Given the description of an element on the screen output the (x, y) to click on. 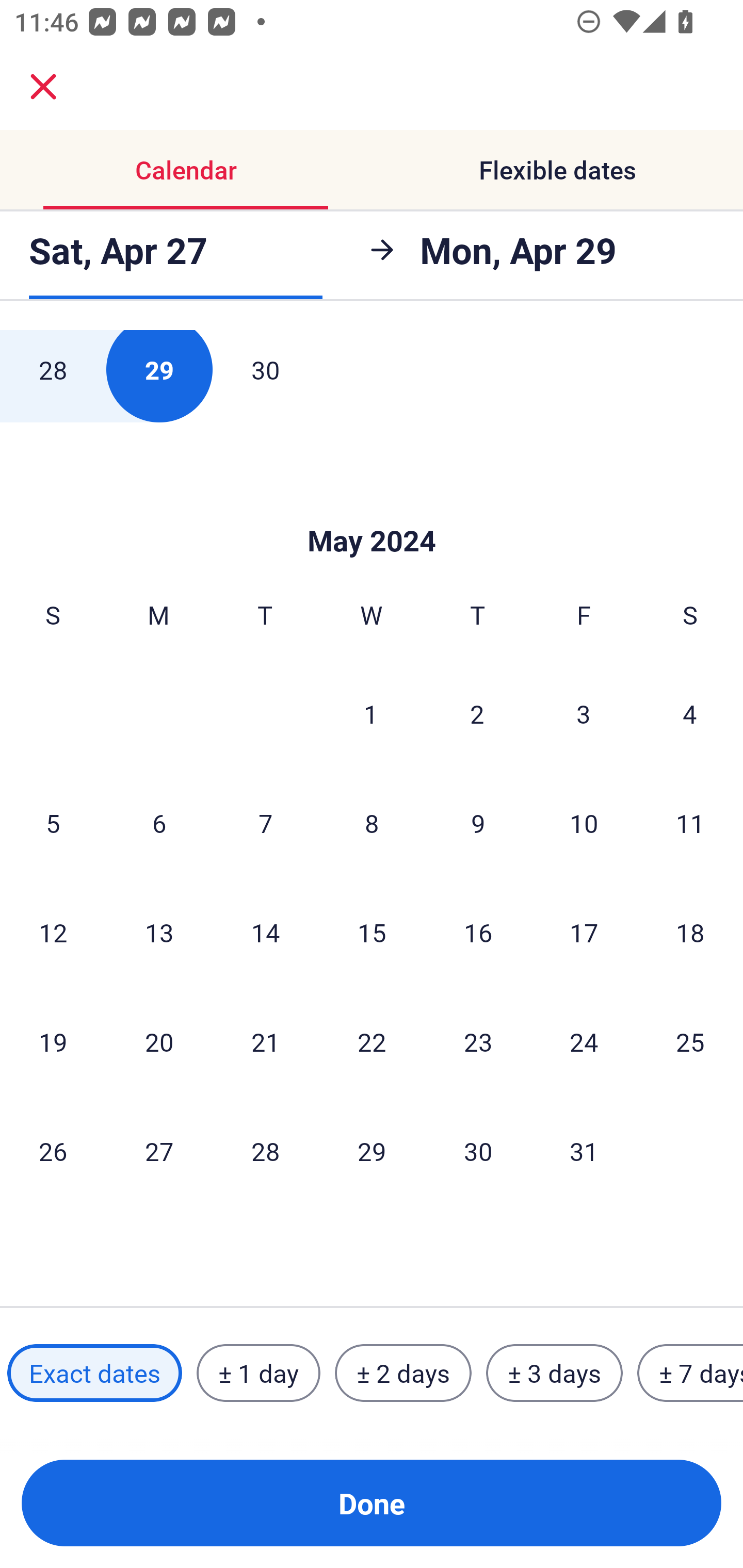
close. (43, 86)
Flexible dates (557, 170)
30 Tuesday, April 30, 2024 (265, 375)
Skip to Done (371, 510)
1 Wednesday, May 1, 2024 (371, 713)
2 Thursday, May 2, 2024 (477, 713)
3 Friday, May 3, 2024 (583, 713)
4 Saturday, May 4, 2024 (689, 713)
5 Sunday, May 5, 2024 (53, 822)
6 Monday, May 6, 2024 (159, 822)
7 Tuesday, May 7, 2024 (265, 822)
8 Wednesday, May 8, 2024 (371, 822)
9 Thursday, May 9, 2024 (477, 822)
10 Friday, May 10, 2024 (584, 822)
11 Saturday, May 11, 2024 (690, 822)
12 Sunday, May 12, 2024 (53, 931)
13 Monday, May 13, 2024 (159, 931)
14 Tuesday, May 14, 2024 (265, 931)
15 Wednesday, May 15, 2024 (371, 931)
16 Thursday, May 16, 2024 (477, 931)
17 Friday, May 17, 2024 (584, 931)
18 Saturday, May 18, 2024 (690, 931)
19 Sunday, May 19, 2024 (53, 1041)
20 Monday, May 20, 2024 (159, 1041)
21 Tuesday, May 21, 2024 (265, 1041)
22 Wednesday, May 22, 2024 (371, 1041)
23 Thursday, May 23, 2024 (477, 1041)
24 Friday, May 24, 2024 (584, 1041)
25 Saturday, May 25, 2024 (690, 1041)
26 Sunday, May 26, 2024 (53, 1150)
27 Monday, May 27, 2024 (159, 1150)
28 Tuesday, May 28, 2024 (265, 1150)
29 Wednesday, May 29, 2024 (371, 1150)
30 Thursday, May 30, 2024 (477, 1150)
31 Friday, May 31, 2024 (584, 1150)
Exact dates (94, 1372)
± 1 day (258, 1372)
± 2 days (403, 1372)
± 3 days (553, 1372)
± 7 days (690, 1372)
Done (371, 1502)
